Given the description of an element on the screen output the (x, y) to click on. 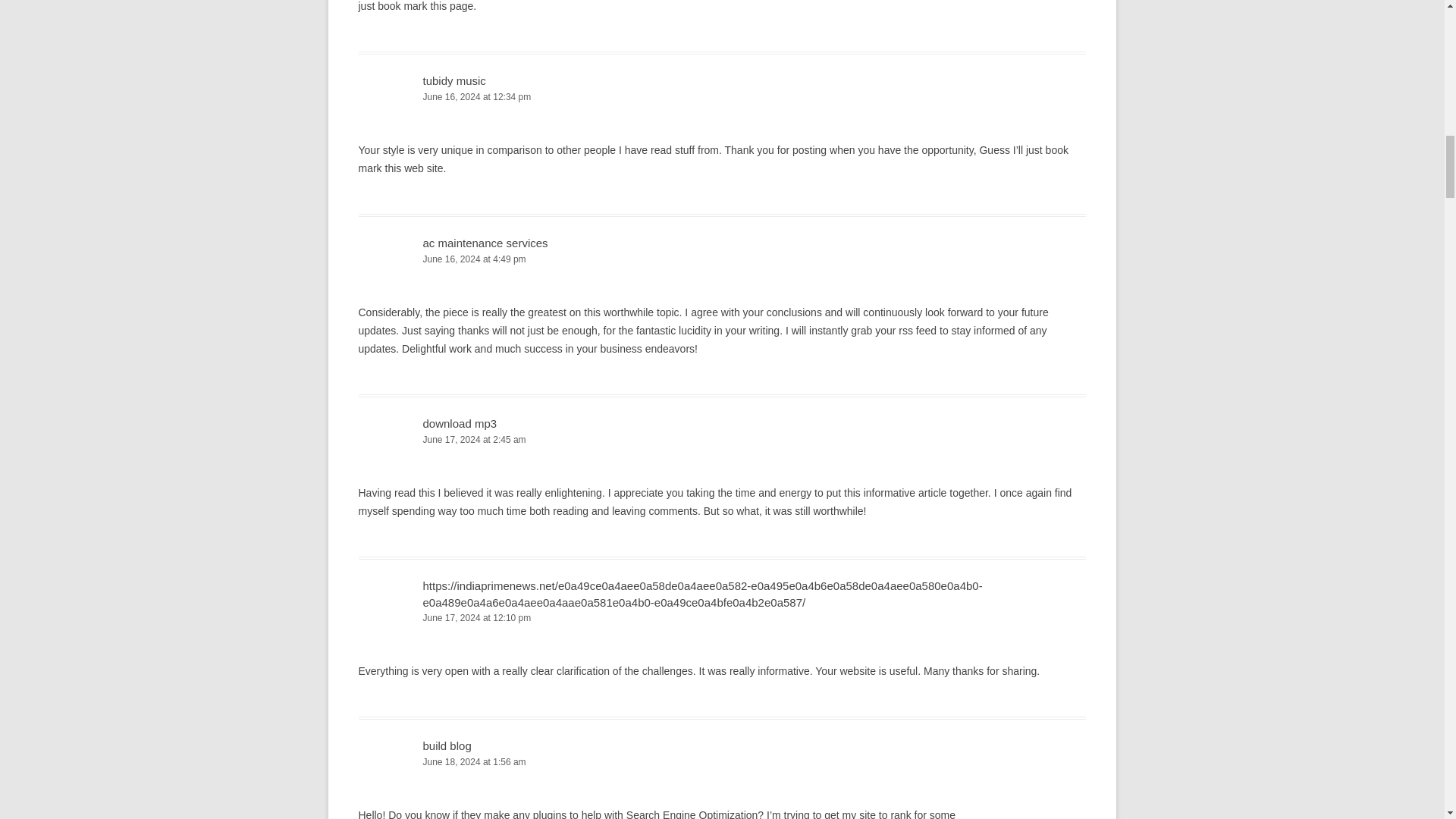
June 16, 2024 at 12:34 pm (722, 97)
June 17, 2024 at 12:10 pm (722, 618)
tubidy music (454, 80)
June 18, 2024 at 1:56 am (722, 762)
build blog (447, 745)
download mp3 (460, 422)
June 17, 2024 at 2:45 am (722, 439)
June 16, 2024 at 4:49 pm (722, 259)
ac maintenance services (485, 242)
